Given the description of an element on the screen output the (x, y) to click on. 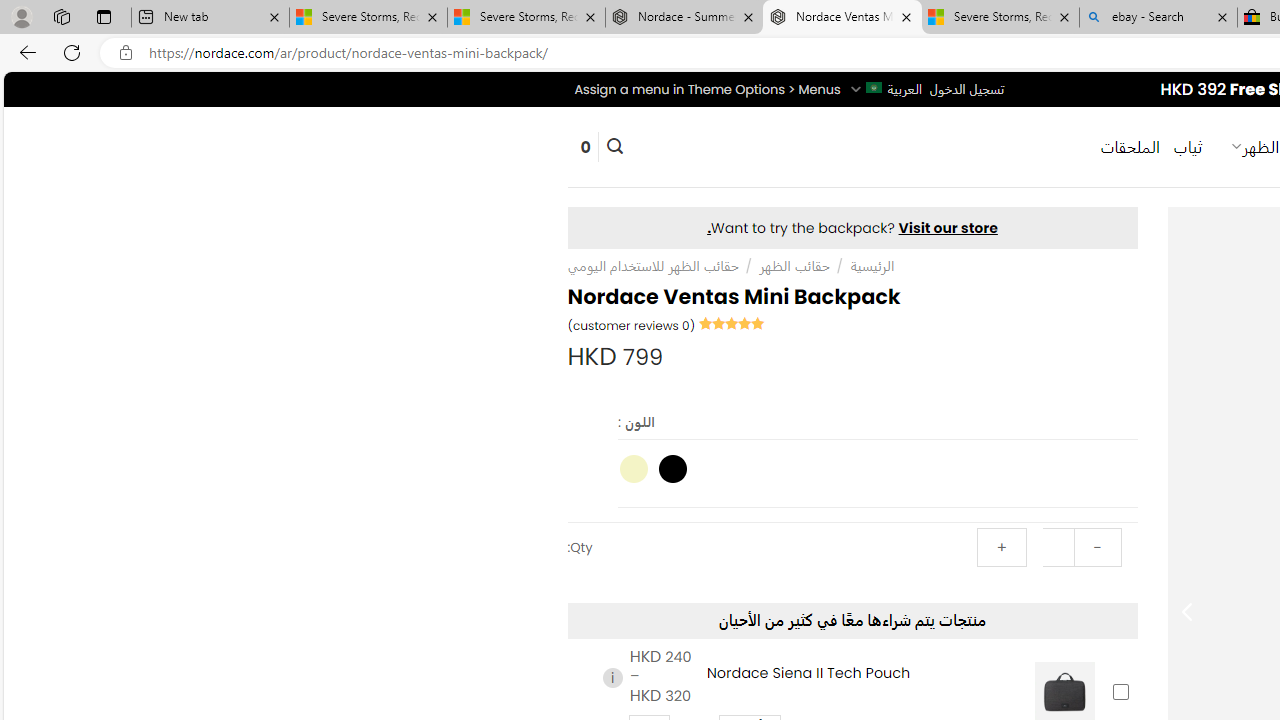
Add this product to cart (1120, 692)
 0 (585, 146)
Visit our store. (852, 228)
(0 customer reviews) (631, 324)
i (612, 677)
